Given the description of an element on the screen output the (x, y) to click on. 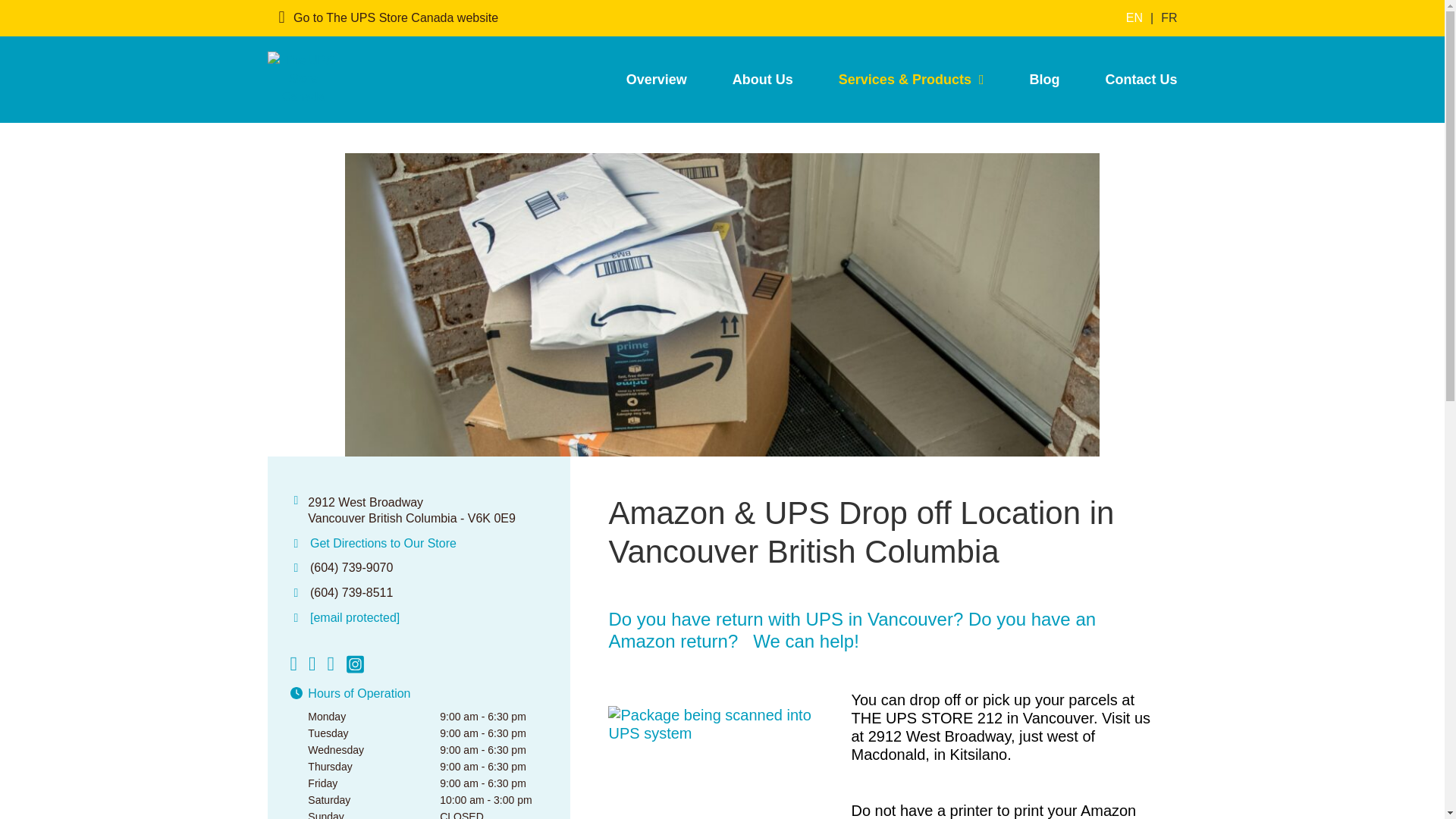
Go to The UPS Store Canada website (389, 17)
Get Directions to Our Store (383, 543)
About Us (762, 79)
Blog (1043, 79)
Contact Us (1128, 79)
FR (1168, 17)
Overview (657, 79)
EN (1133, 17)
